Given the description of an element on the screen output the (x, y) to click on. 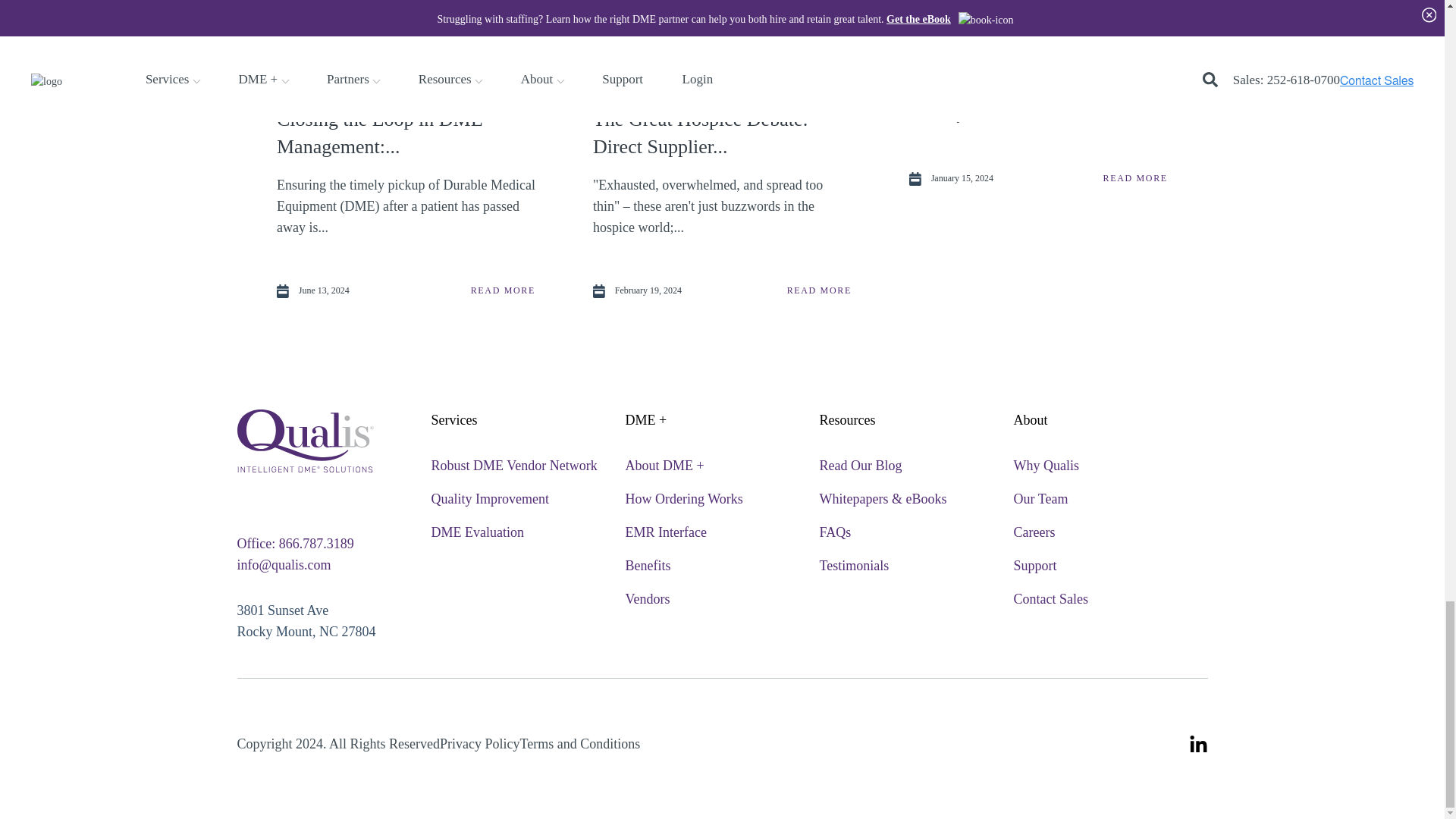
Terms and Conditions  (579, 743)
Privacy Policy  (479, 743)
READ MORE (1135, 178)
READ MORE (819, 290)
READ MORE (502, 290)
